Given the description of an element on the screen output the (x, y) to click on. 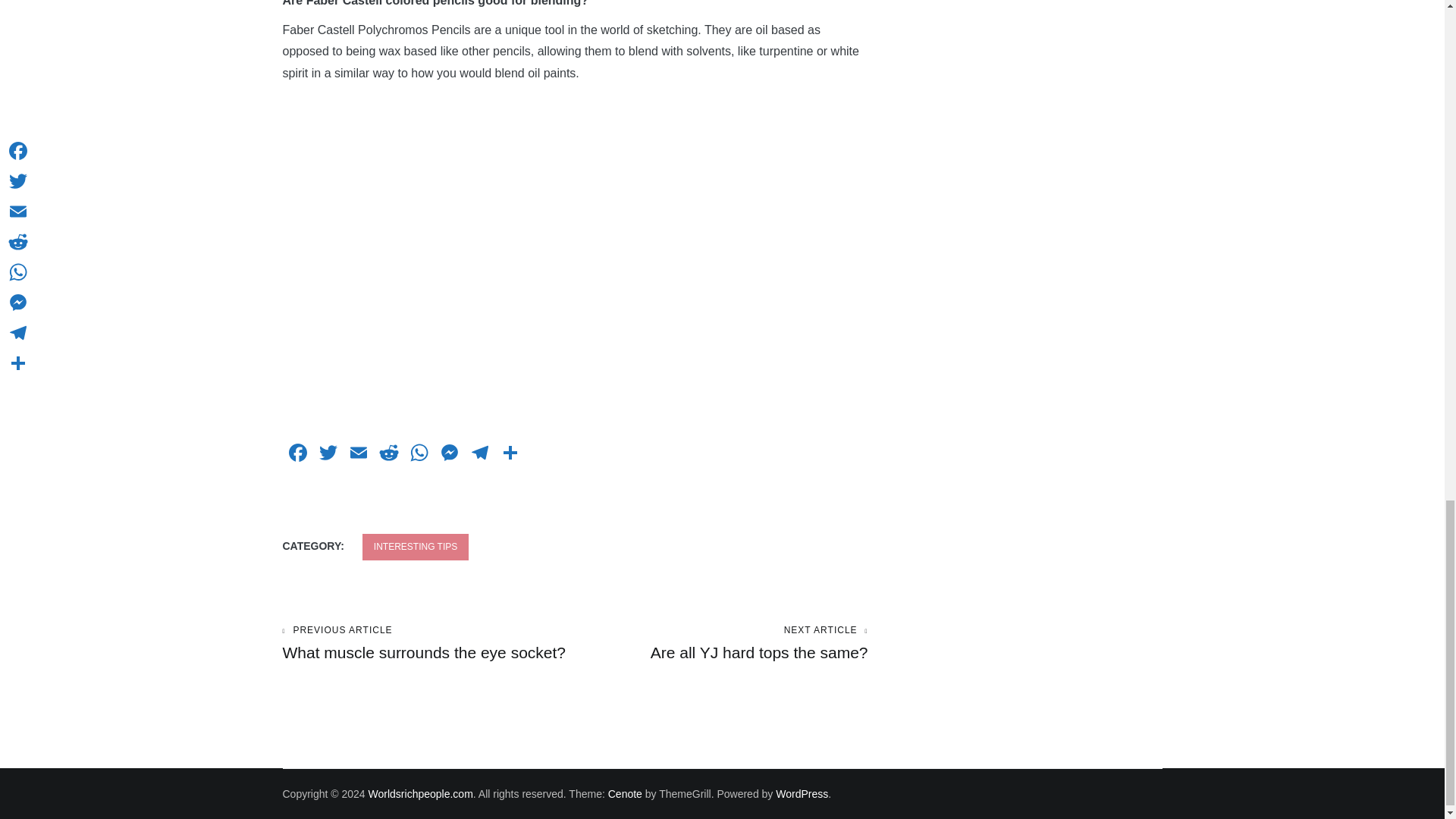
Messenger (448, 454)
WhatsApp (418, 454)
Reddit (387, 454)
Share (509, 454)
Worldsrichpeople.com (420, 793)
Telegram (479, 454)
Email (357, 454)
Facebook (297, 454)
Email (428, 642)
INTERESTING TIPS (357, 454)
Twitter (415, 546)
Telegram (327, 454)
Twitter (479, 454)
